Given the description of an element on the screen output the (x, y) to click on. 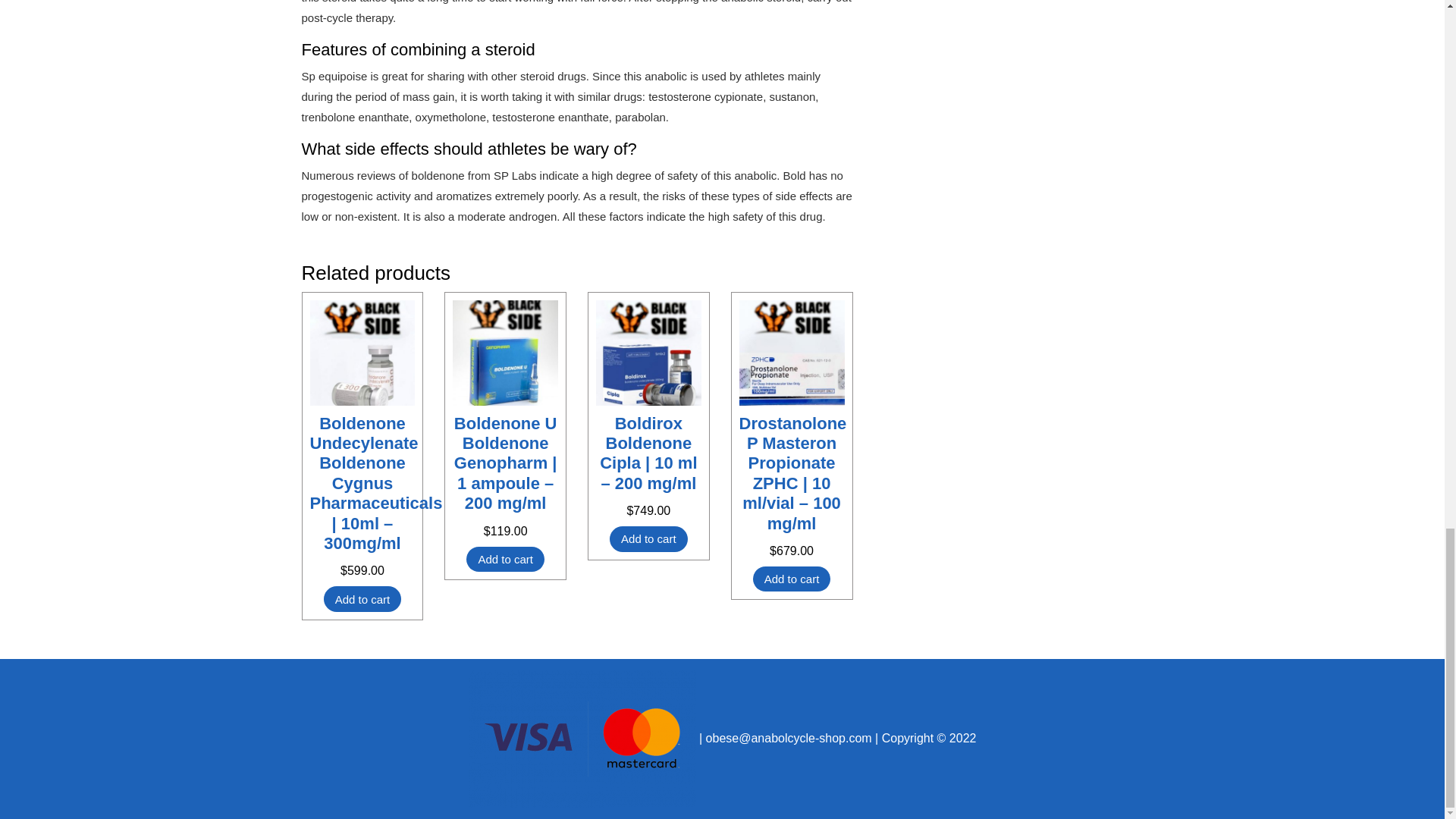
Add to cart (362, 598)
